Given the description of an element on the screen output the (x, y) to click on. 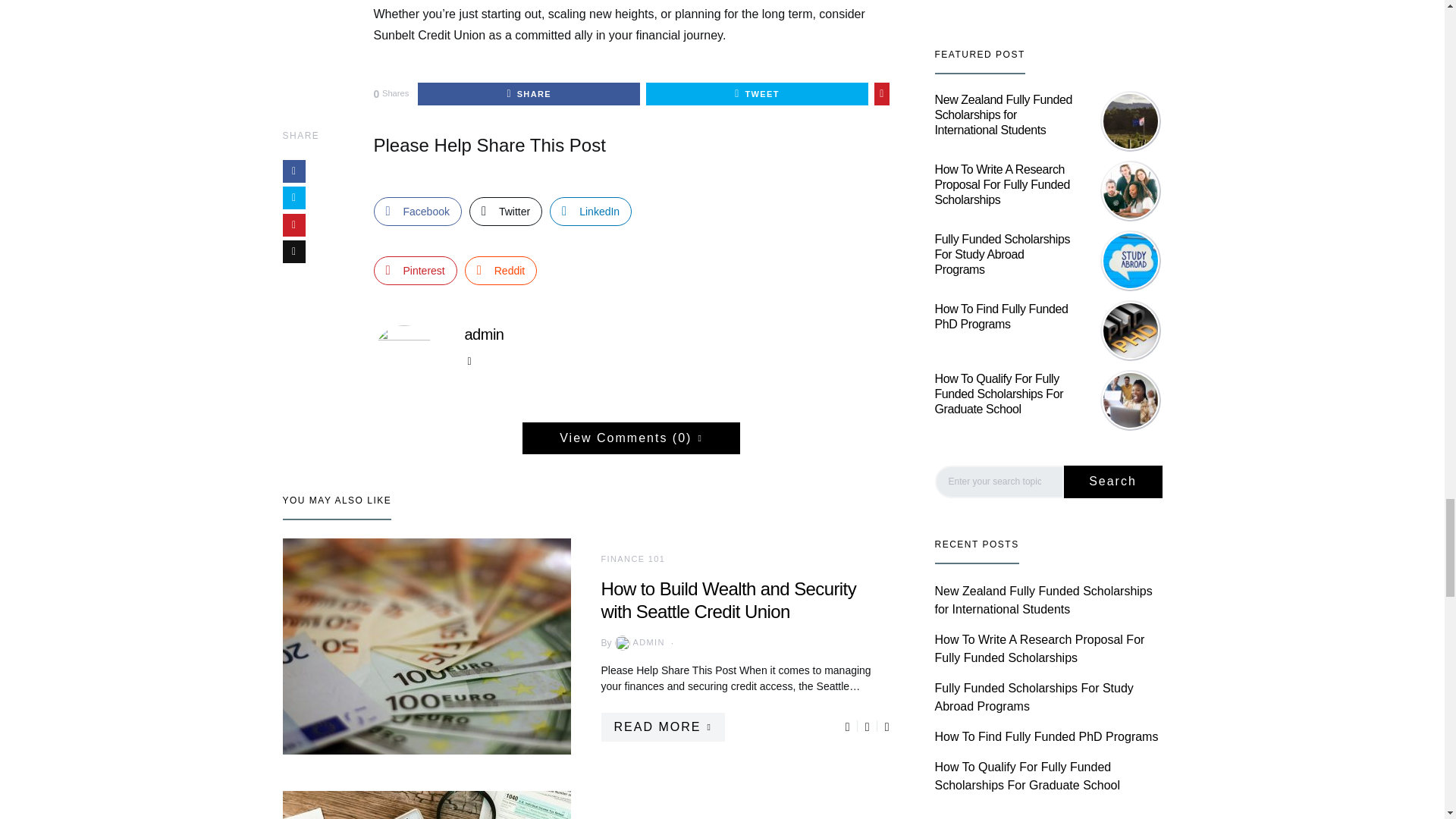
View all posts by admin (638, 642)
